Given the description of an element on the screen output the (x, y) to click on. 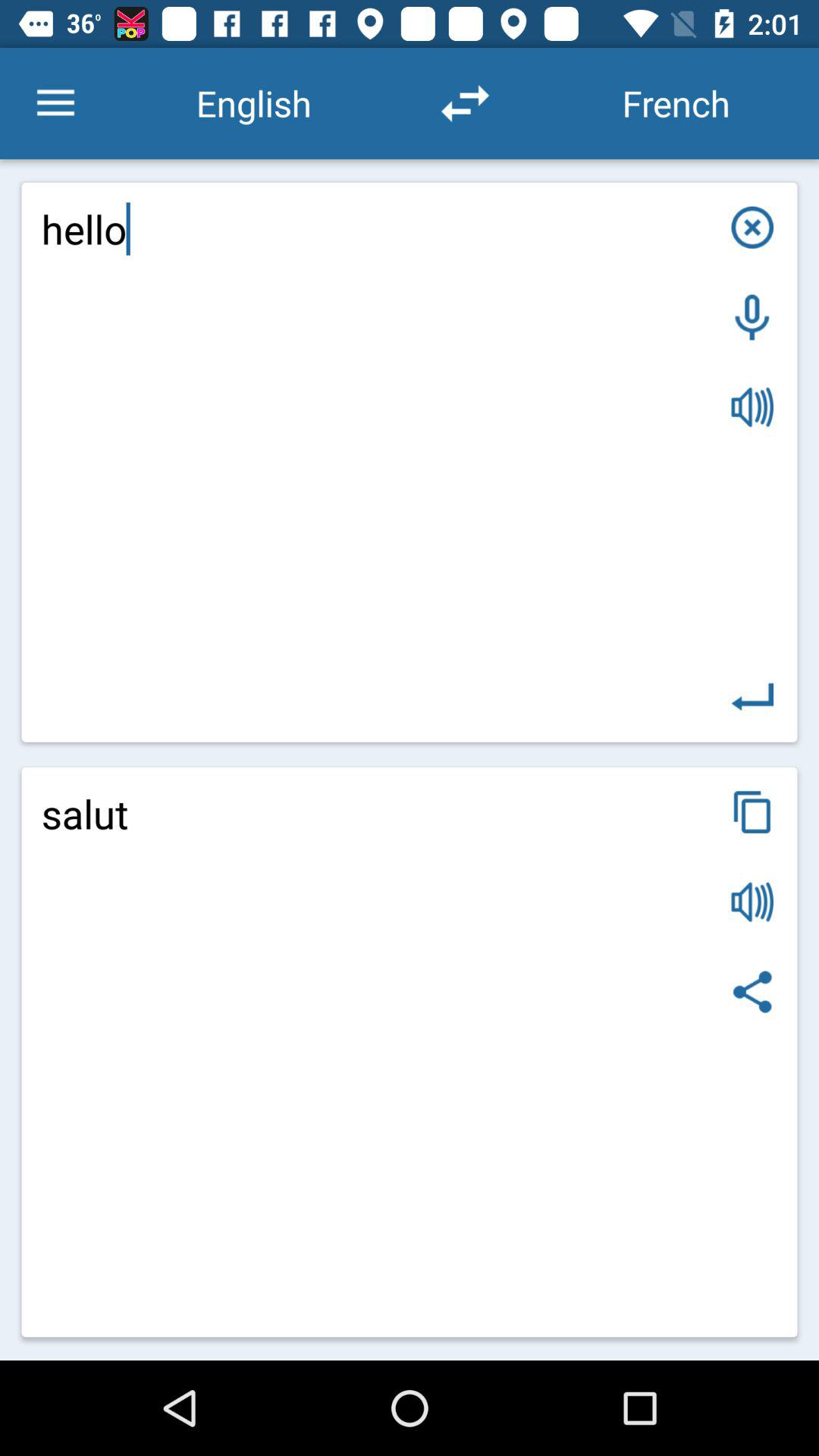
click salut (409, 1052)
